Given the description of an element on the screen output the (x, y) to click on. 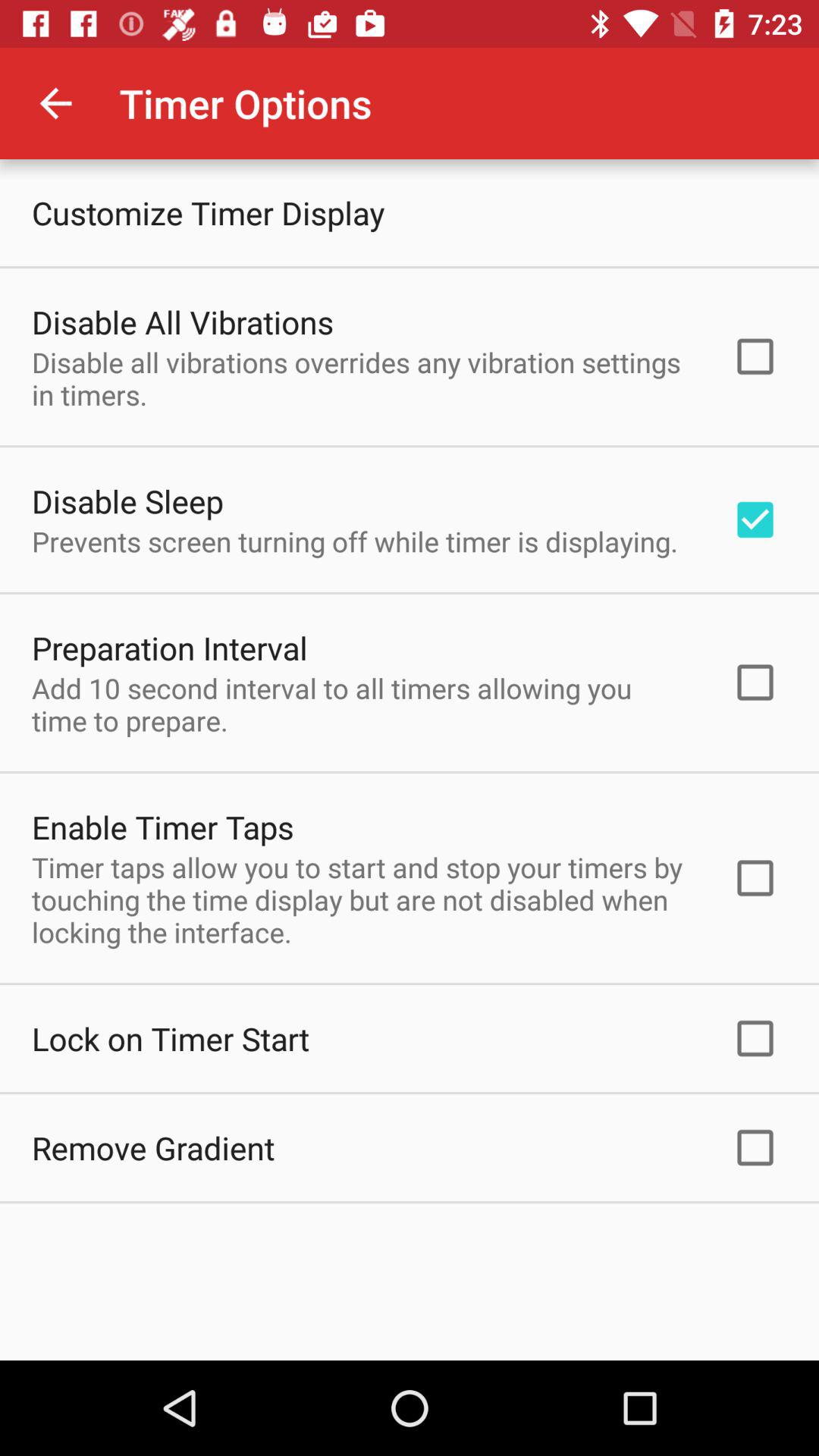
tap app next to timer options item (55, 103)
